Given the description of an element on the screen output the (x, y) to click on. 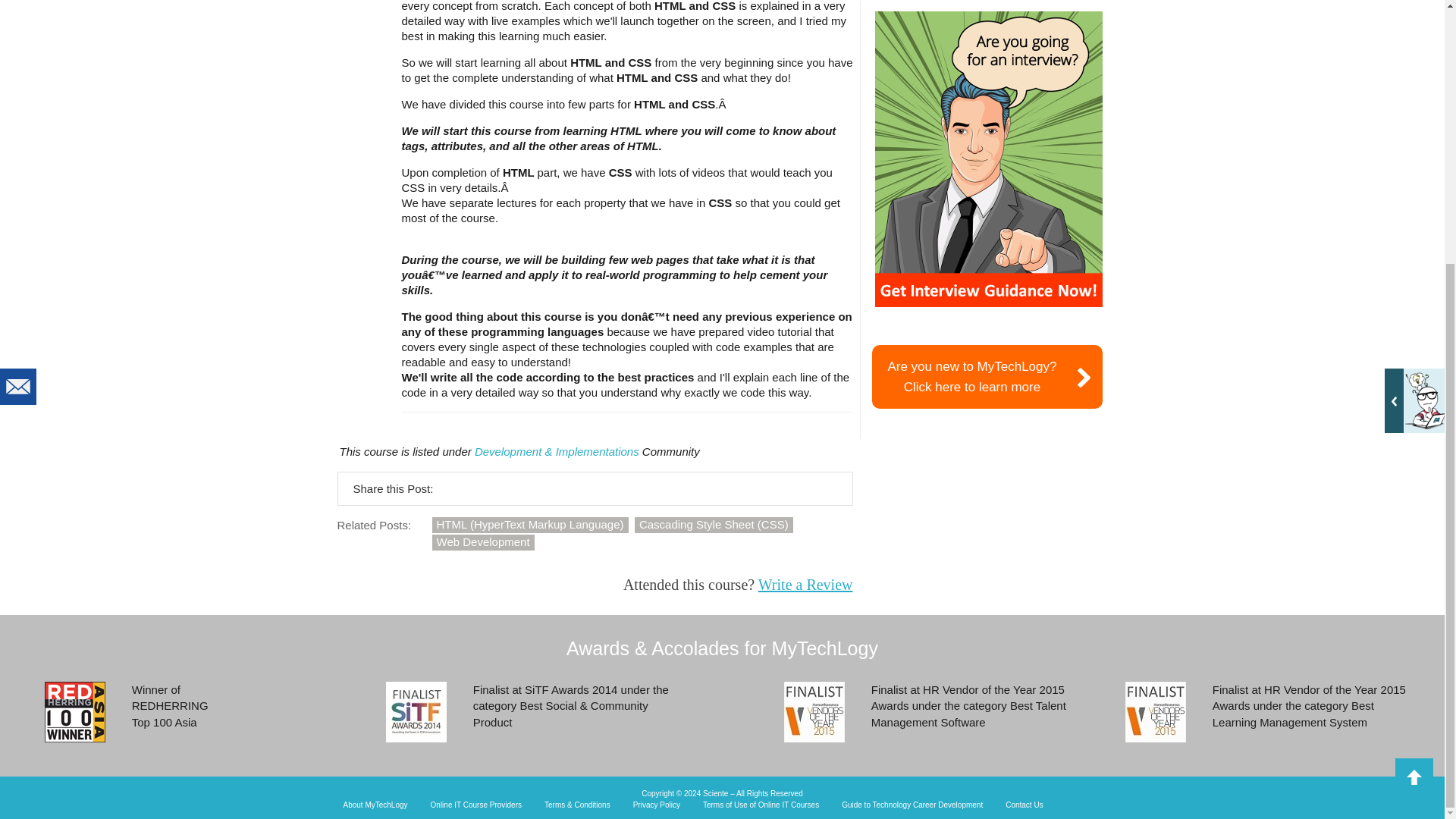
Write a Review (805, 584)
Web Development (483, 542)
Terms of Use of Online IT Courses (760, 805)
Online IT Course Providers (475, 805)
Contact Us (987, 376)
Winner of REDHERRING Top 100 Asia (1024, 805)
About MyTechLogy (74, 711)
Going for an interview? Get Interview Guidance Now (374, 805)
Guide to Technology Career Development (988, 159)
Privacy Policy (911, 805)
